Given the description of an element on the screen output the (x, y) to click on. 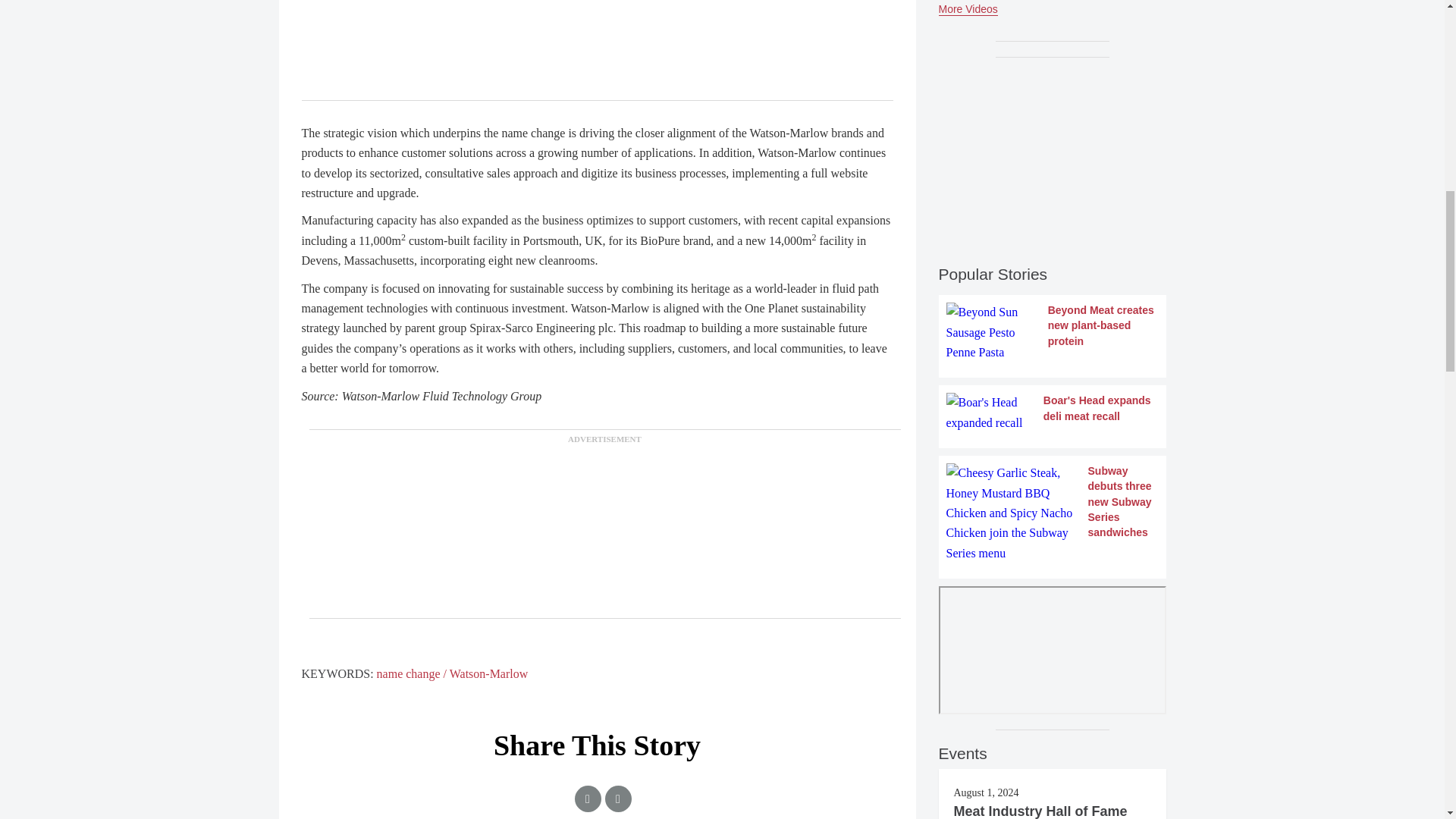
Boar's Head expands deli meat recall (1052, 413)
Subway debuts three new Subway Series sandwiches (1052, 513)
Beyond Meat creates new plant-based protein (1052, 332)
Meat Industry Hall of Fame (1039, 811)
